Given the description of an element on the screen output the (x, y) to click on. 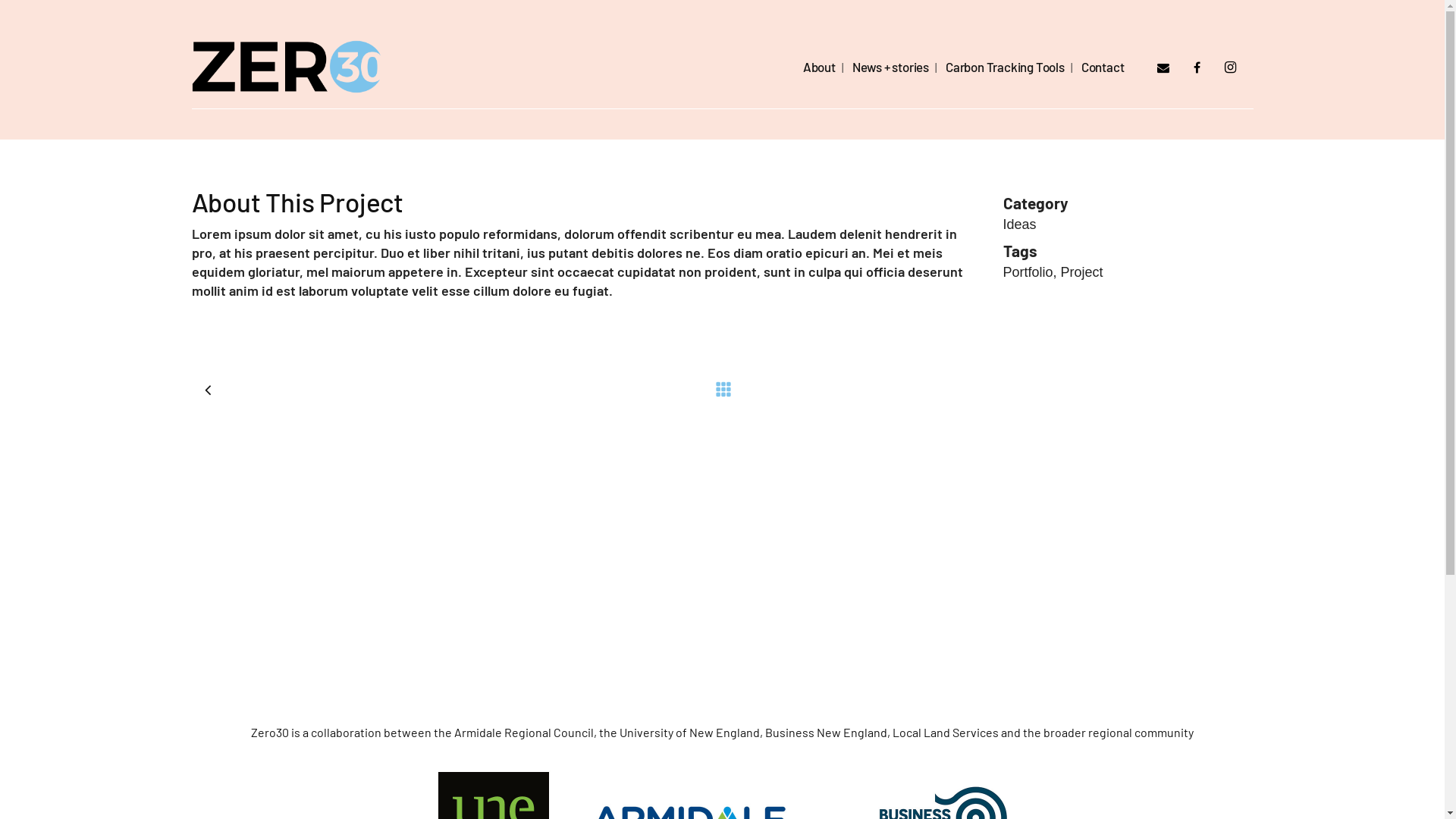
About Element type: text (819, 66)
Contact Element type: text (1102, 66)
University of New England Element type: text (689, 731)
Business New England, Element type: text (827, 731)
Armidale Regional Council Element type: text (523, 731)
Local Land Services Element type: text (945, 731)
Carbon Tracking Tools Element type: text (1005, 66)
News + stories Element type: text (890, 66)
